Given the description of an element on the screen output the (x, y) to click on. 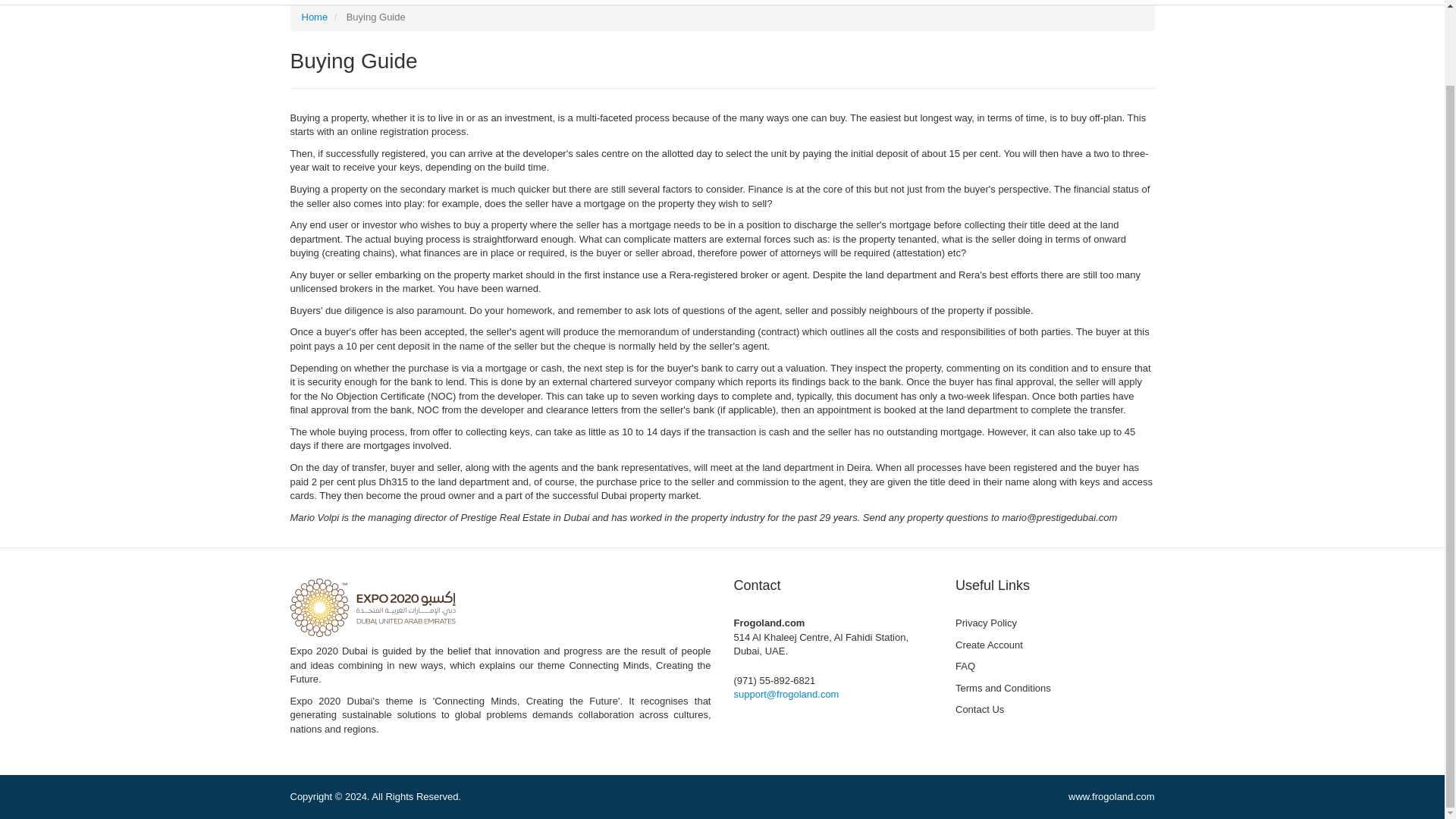
Privacy Policy (1054, 623)
Home (315, 16)
Terms and Conditions (1054, 689)
Create Account (1054, 645)
Contact Us (1054, 710)
FAQ (1054, 667)
